Given the description of an element on the screen output the (x, y) to click on. 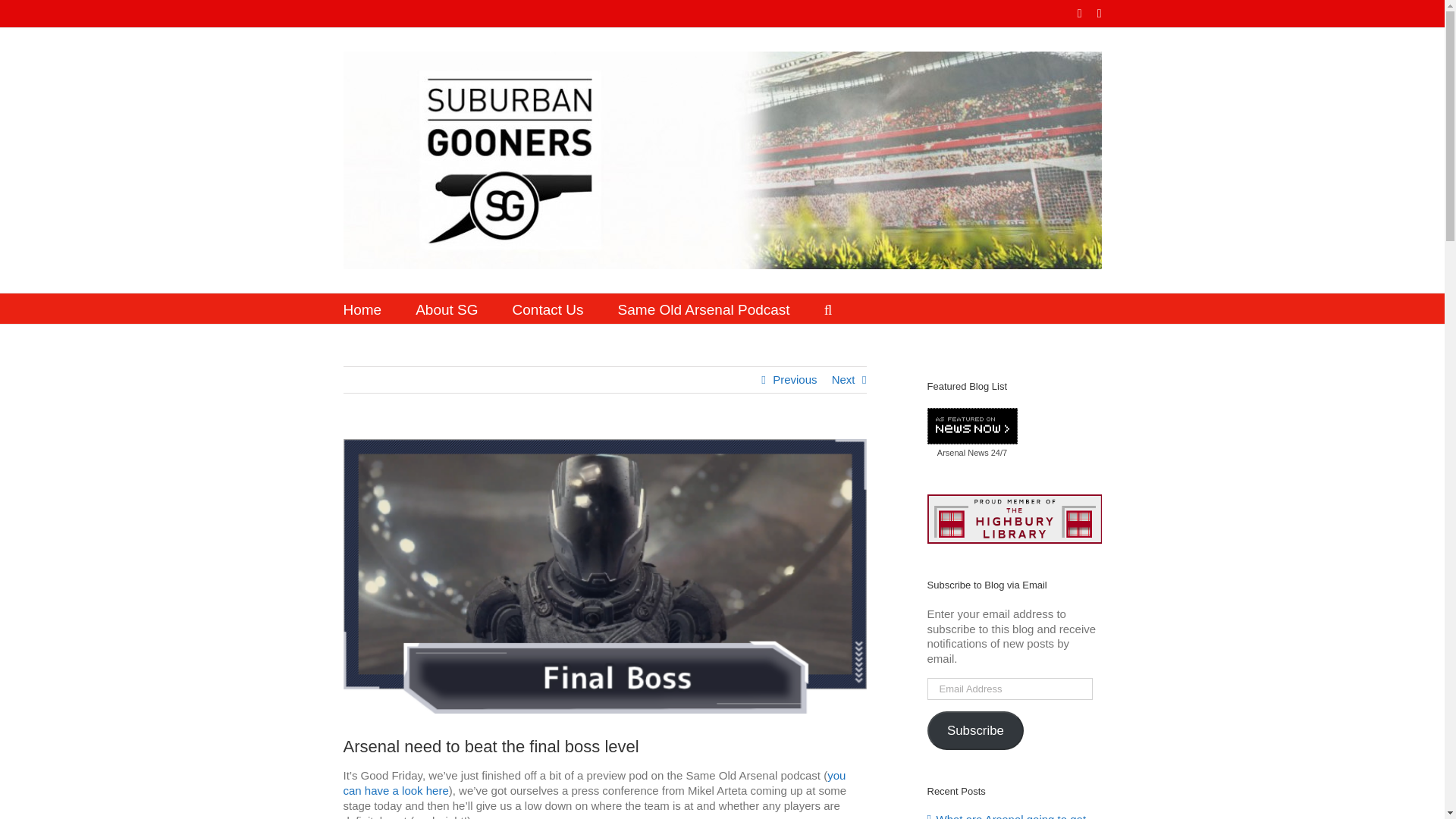
you can have a look here (593, 782)
Same Old Arsenal Podcast (703, 308)
Previous (794, 379)
Next (843, 379)
About SG (445, 308)
Contact Us (547, 308)
Home (361, 308)
